Given the description of an element on the screen output the (x, y) to click on. 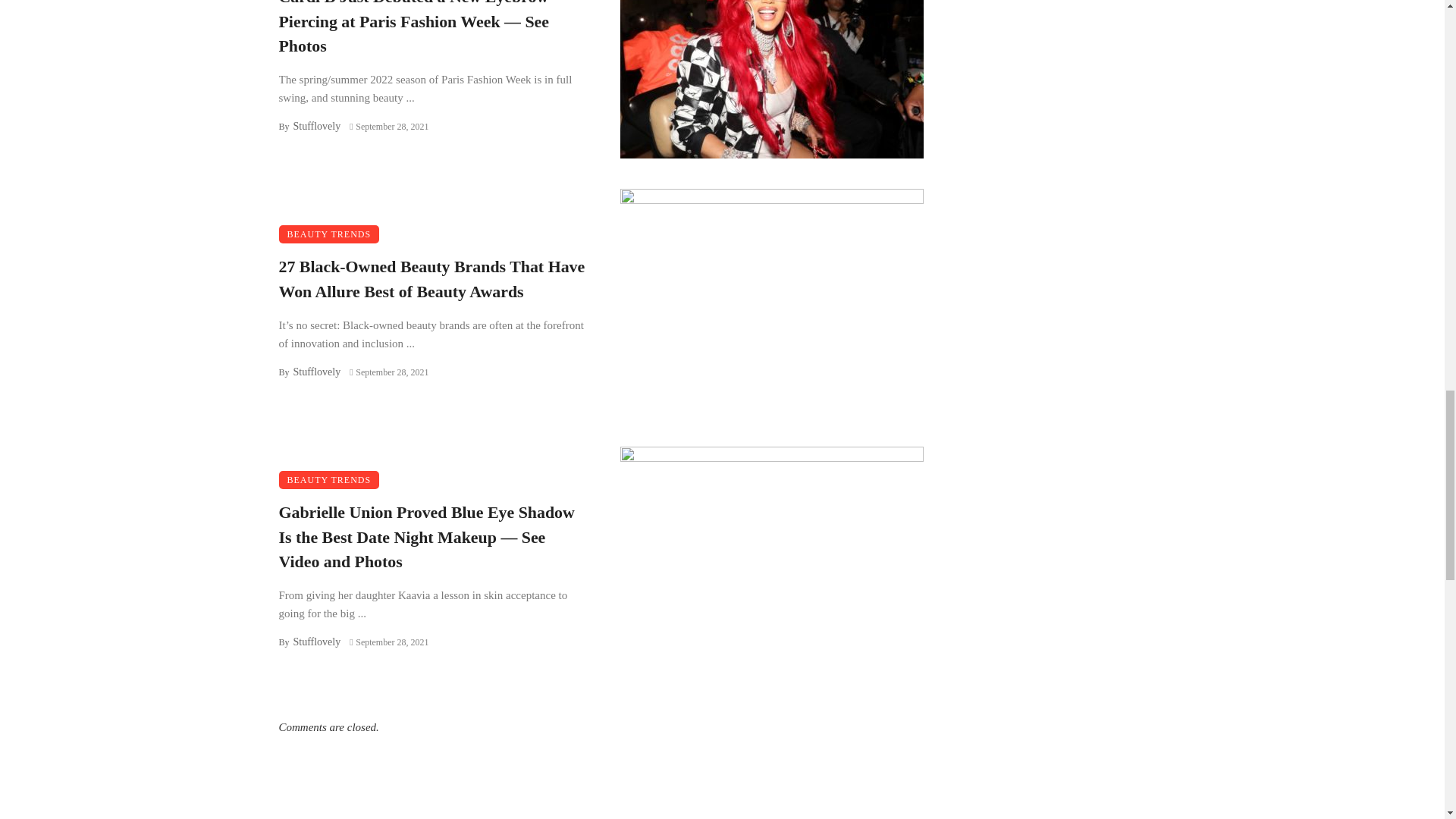
September 28, 2021 at 7:42 pm (388, 642)
Stufflovely (316, 371)
BEAUTY TRENDS (329, 234)
Stufflovely (316, 641)
BEAUTY TRENDS (329, 479)
September 28, 2021 at 9:44 pm (388, 126)
September 28, 2021 at 8:43 pm (388, 371)
Stufflovely (316, 125)
